Given the description of an element on the screen output the (x, y) to click on. 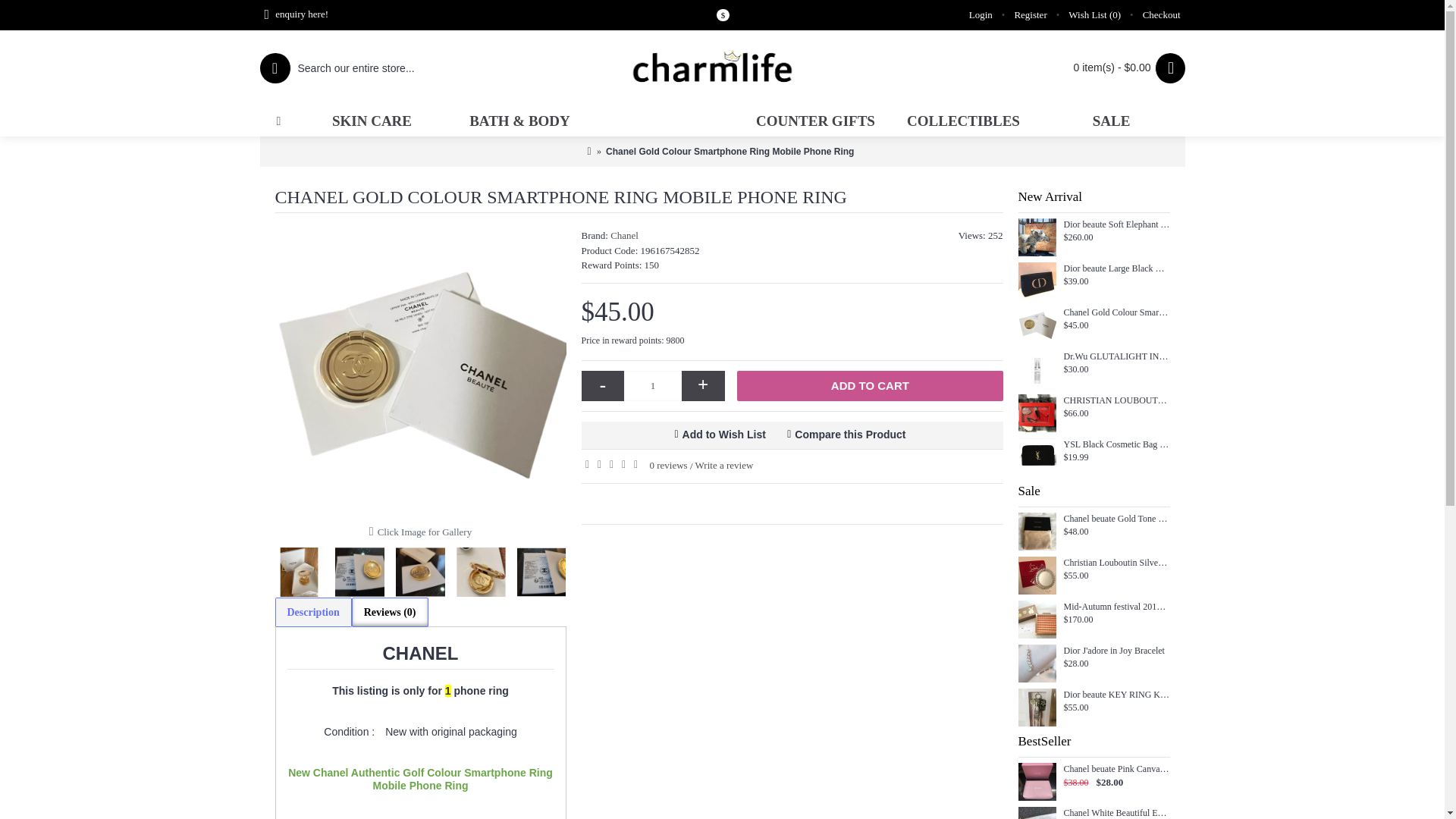
Chanel  beuate Gold Tone Le Rouge  Cosmetic Pouch  (1036, 531)
CharmLife (721, 68)
CHRISTIAN LOUBOUTIN BROOCH Pin  (1036, 412)
Dior  J'adore in Joy Bracelet  (1036, 663)
Chanel Gold Colour Smartphone Ring Mobile Phone Ring (1036, 324)
Register (1030, 15)
Dr.Wu GLUTALIGHT INTENSIVE WHITENING SERUM 15ML (1036, 369)
Login (980, 15)
1 (652, 386)
